Given the description of an element on the screen output the (x, y) to click on. 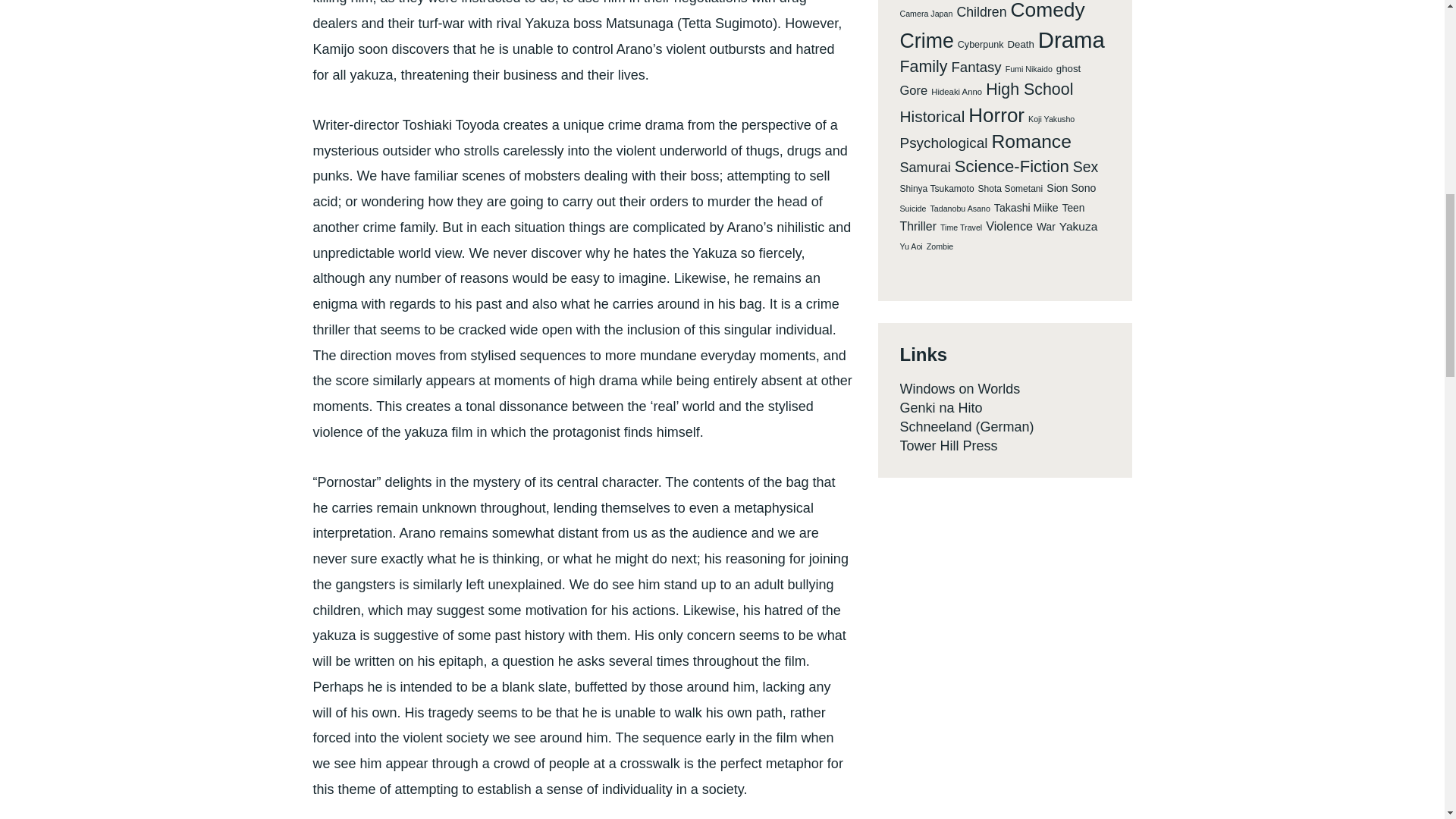
Camera Japan (925, 13)
Children (981, 12)
Comedy (1047, 12)
